Given the description of an element on the screen output the (x, y) to click on. 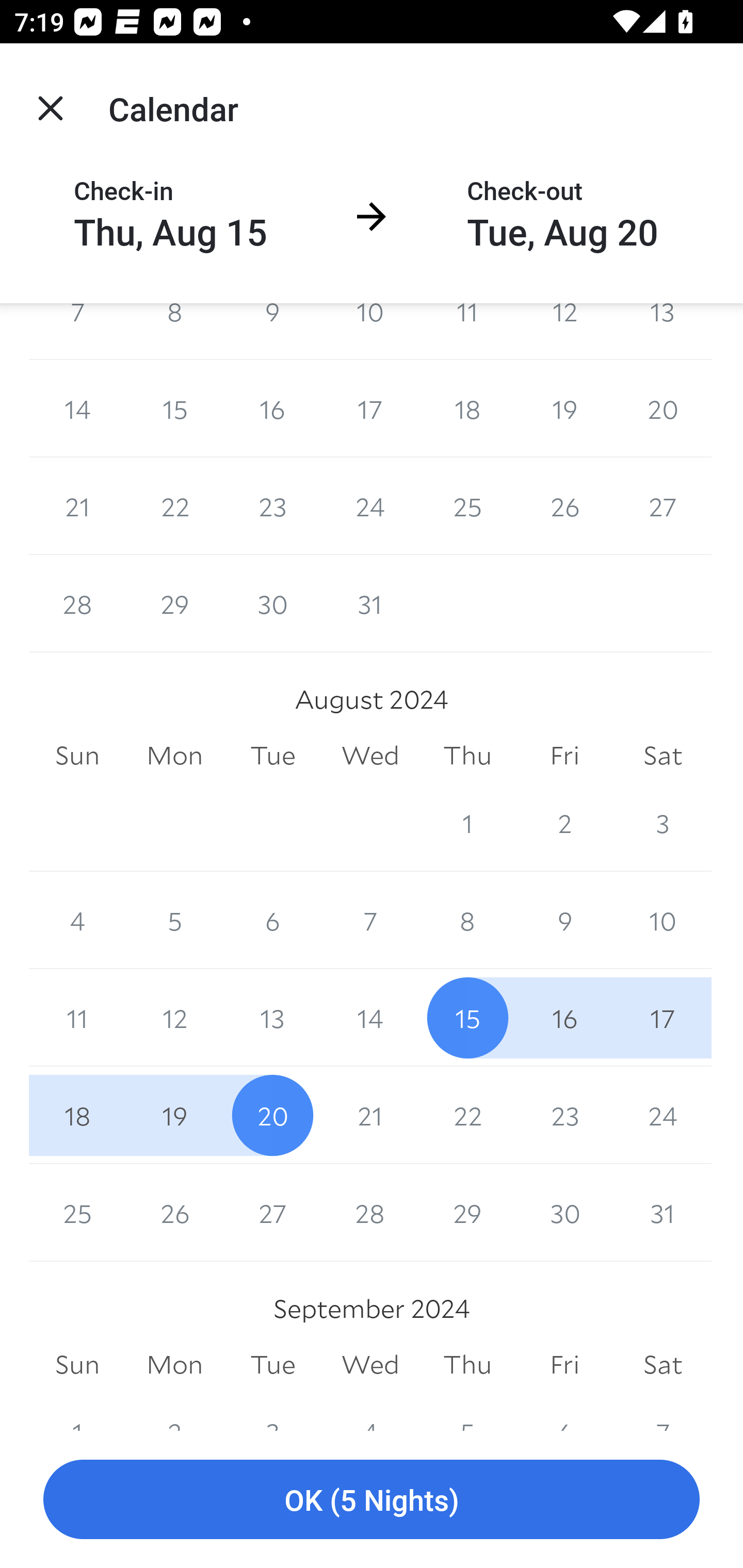
7 7 July 2024 (77, 331)
8 8 July 2024 (174, 331)
9 9 July 2024 (272, 331)
10 10 July 2024 (370, 331)
11 11 July 2024 (467, 331)
12 12 July 2024 (564, 331)
13 13 July 2024 (662, 331)
14 14 July 2024 (77, 408)
15 15 July 2024 (174, 408)
16 16 July 2024 (272, 408)
17 17 July 2024 (370, 408)
18 18 July 2024 (467, 408)
19 19 July 2024 (564, 408)
20 20 July 2024 (662, 408)
21 21 July 2024 (77, 506)
22 22 July 2024 (174, 506)
23 23 July 2024 (272, 506)
24 24 July 2024 (370, 506)
25 25 July 2024 (467, 506)
26 26 July 2024 (564, 506)
27 27 July 2024 (662, 506)
28 28 July 2024 (77, 603)
29 29 July 2024 (174, 603)
30 30 July 2024 (272, 603)
31 31 July 2024 (370, 603)
Sun (77, 755)
Mon (174, 755)
Tue (272, 755)
Wed (370, 755)
Thu (467, 755)
Fri (564, 755)
Sat (662, 755)
1 1 August 2024 (467, 822)
2 2 August 2024 (564, 822)
3 3 August 2024 (662, 822)
4 4 August 2024 (77, 920)
5 5 August 2024 (174, 920)
6 6 August 2024 (272, 920)
7 7 August 2024 (370, 920)
8 8 August 2024 (467, 920)
9 9 August 2024 (564, 920)
10 10 August 2024 (662, 920)
11 11 August 2024 (77, 1017)
12 12 August 2024 (174, 1017)
13 13 August 2024 (272, 1017)
14 14 August 2024 (370, 1017)
15 15 August 2024 (467, 1017)
16 16 August 2024 (564, 1017)
17 17 August 2024 (662, 1017)
